Given the description of an element on the screen output the (x, y) to click on. 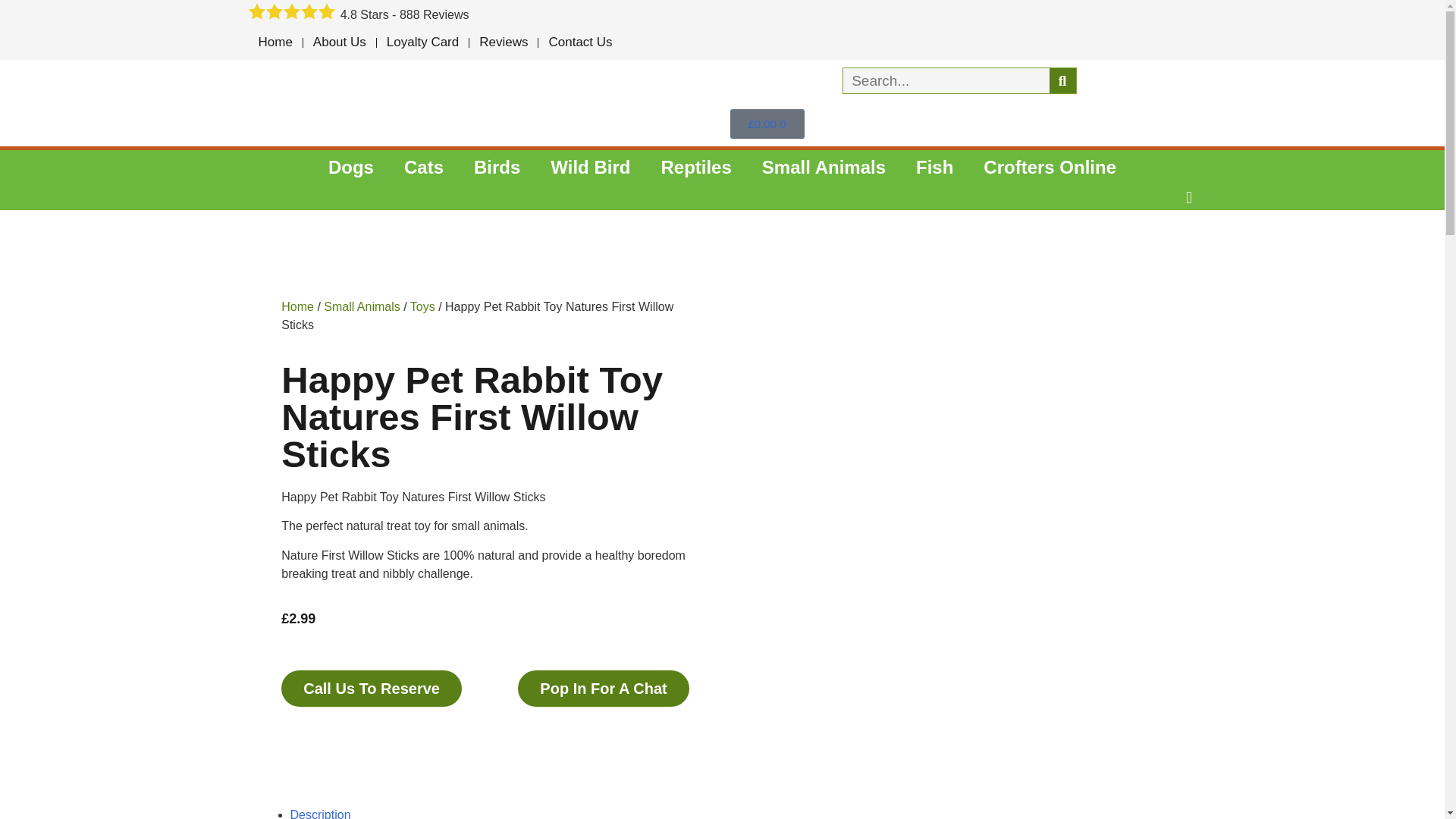
Contact Us (579, 42)
Home (275, 42)
Reviews (502, 42)
About Us (338, 42)
Loyalty Card (422, 42)
Dogs (350, 167)
